Given the description of an element on the screen output the (x, y) to click on. 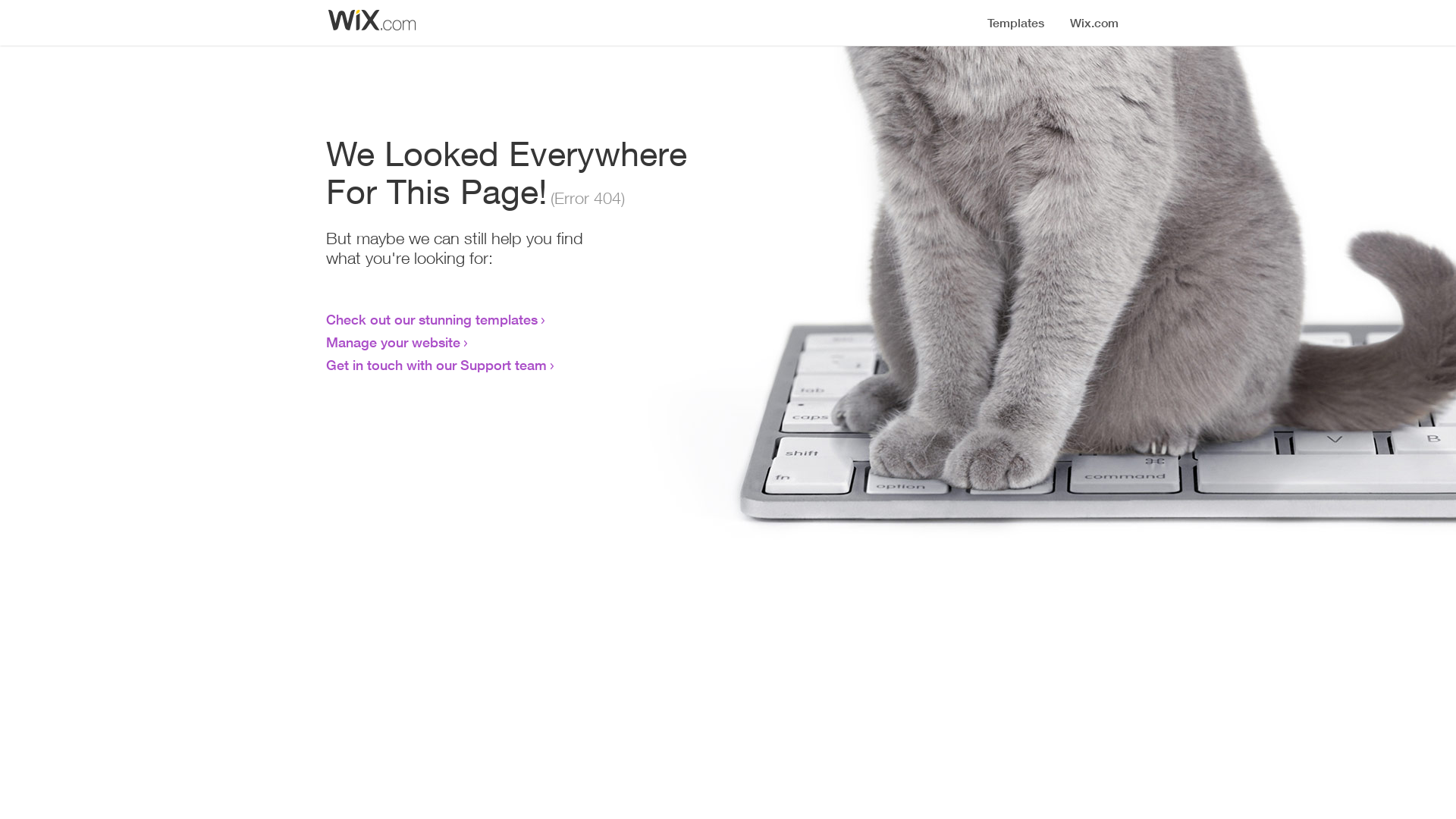
Check out our stunning templates Element type: text (431, 318)
Get in touch with our Support team Element type: text (436, 364)
Manage your website Element type: text (393, 341)
